Given the description of an element on the screen output the (x, y) to click on. 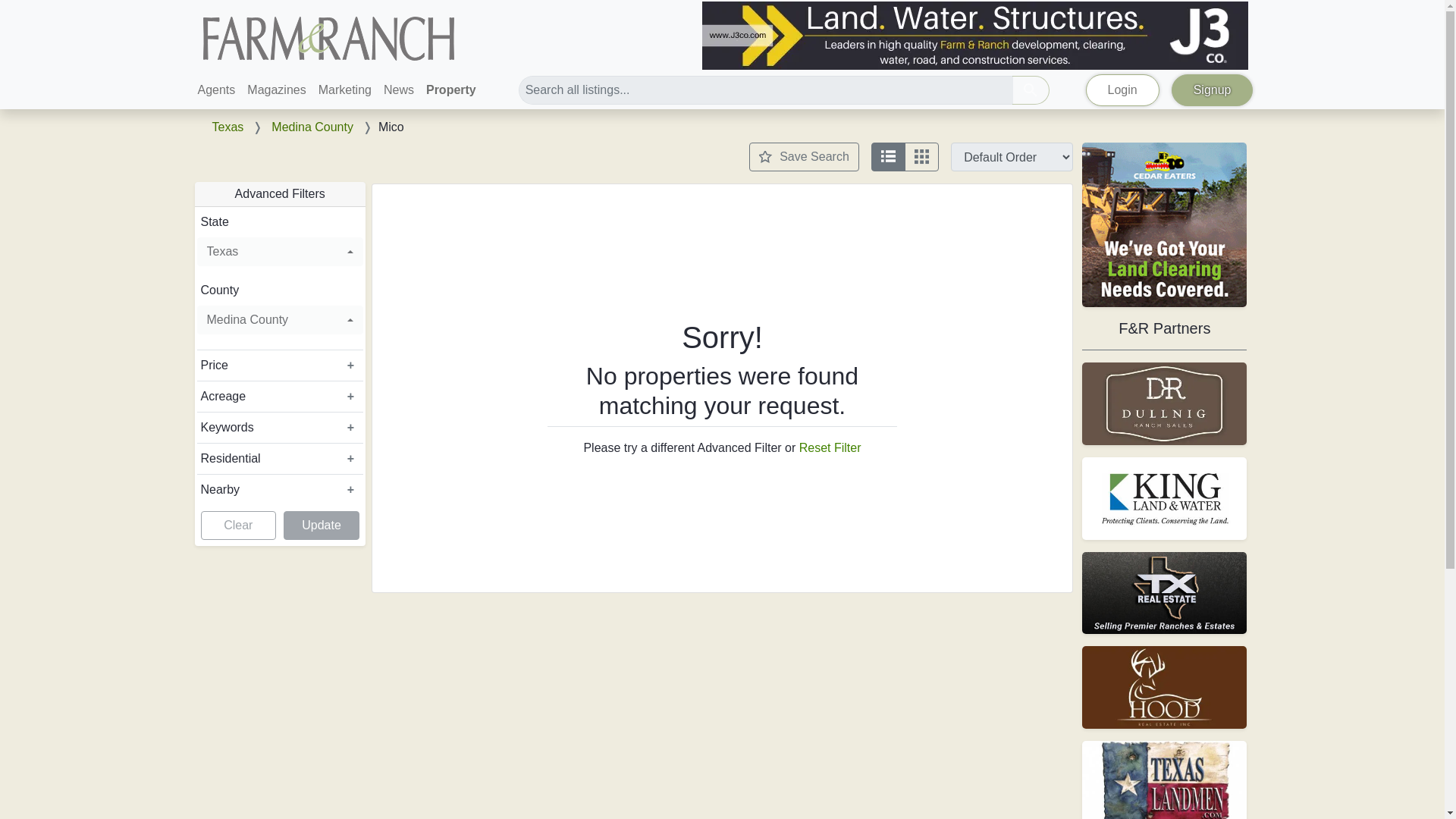
News (398, 90)
Property (450, 90)
Medina County (311, 126)
Texas (279, 251)
List View (887, 156)
Signup (1212, 90)
Grid View (921, 156)
Texas (279, 251)
Medina County (279, 319)
Texas (228, 126)
